Given the description of an element on the screen output the (x, y) to click on. 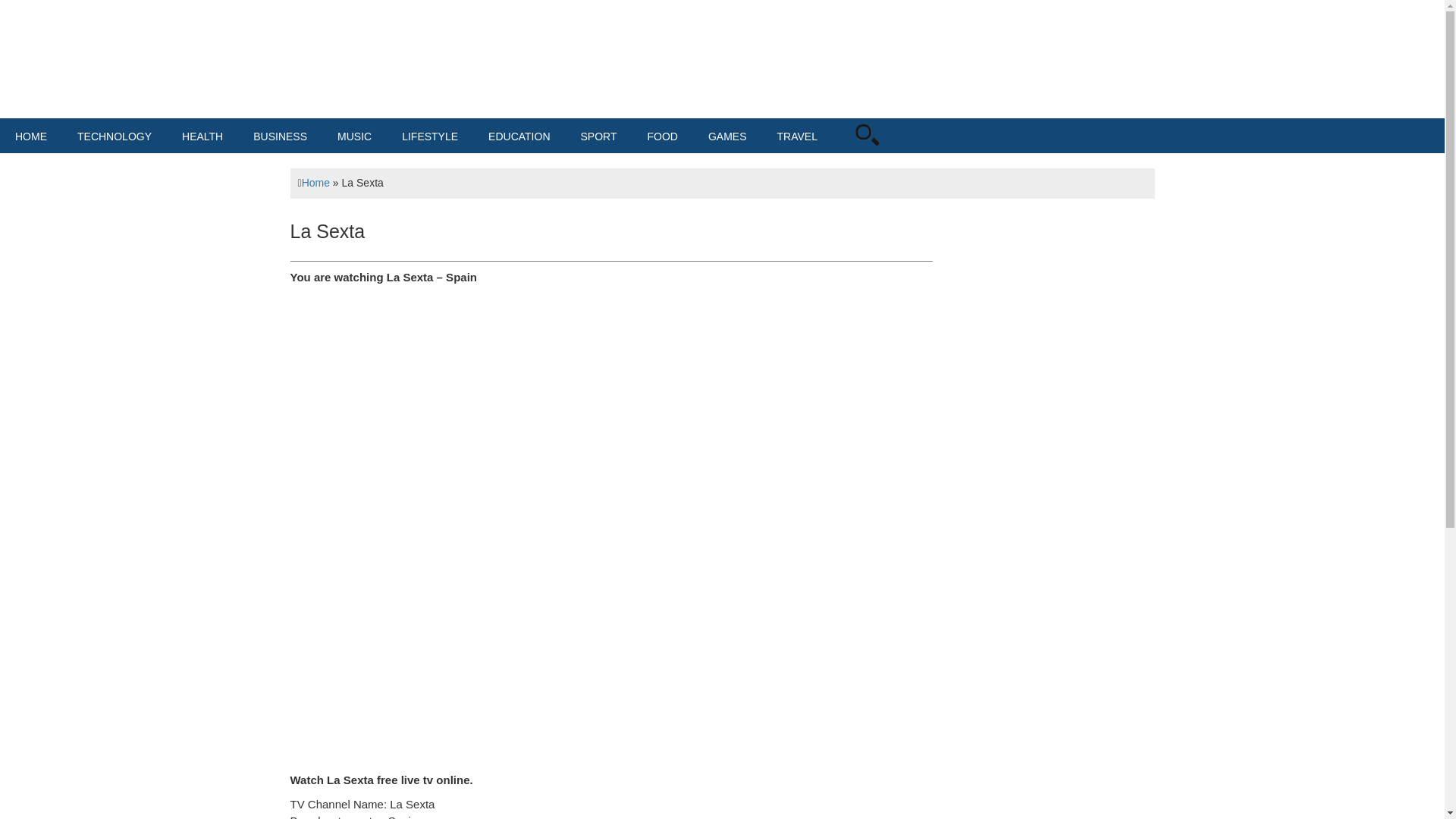
LIFESTYLE (430, 136)
BUSINESS (279, 136)
TECHNOLOGY (114, 136)
TRAVEL (796, 136)
EDUCATION (518, 136)
HOME (31, 136)
GAMES (727, 136)
Home (315, 182)
HEALTH (202, 136)
MUSIC (354, 136)
SPORT (598, 136)
Search (887, 154)
FOOD (662, 136)
